Given the description of an element on the screen output the (x, y) to click on. 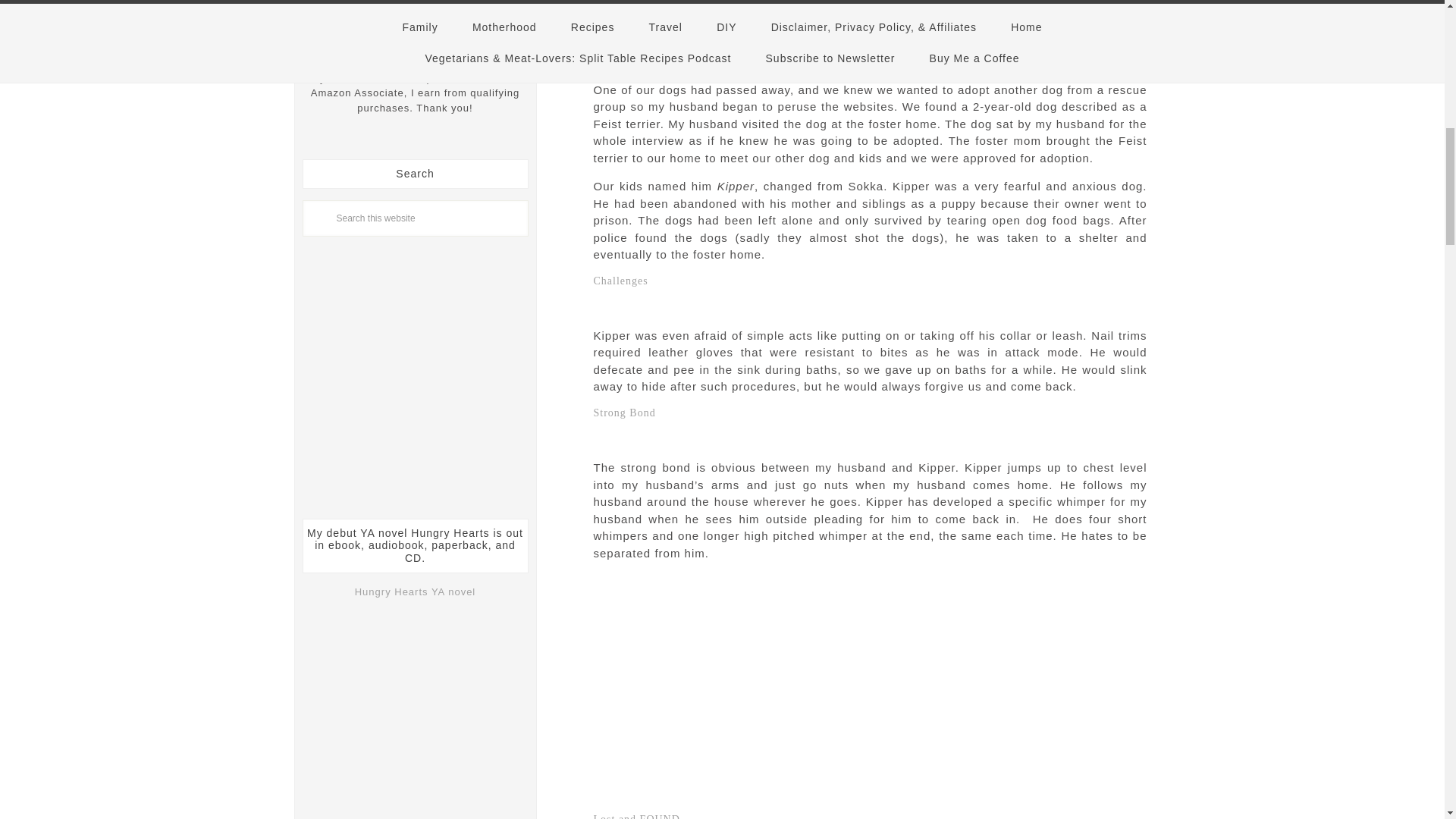
Hungry Hearts YA novel (415, 591)
